Given the description of an element on the screen output the (x, y) to click on. 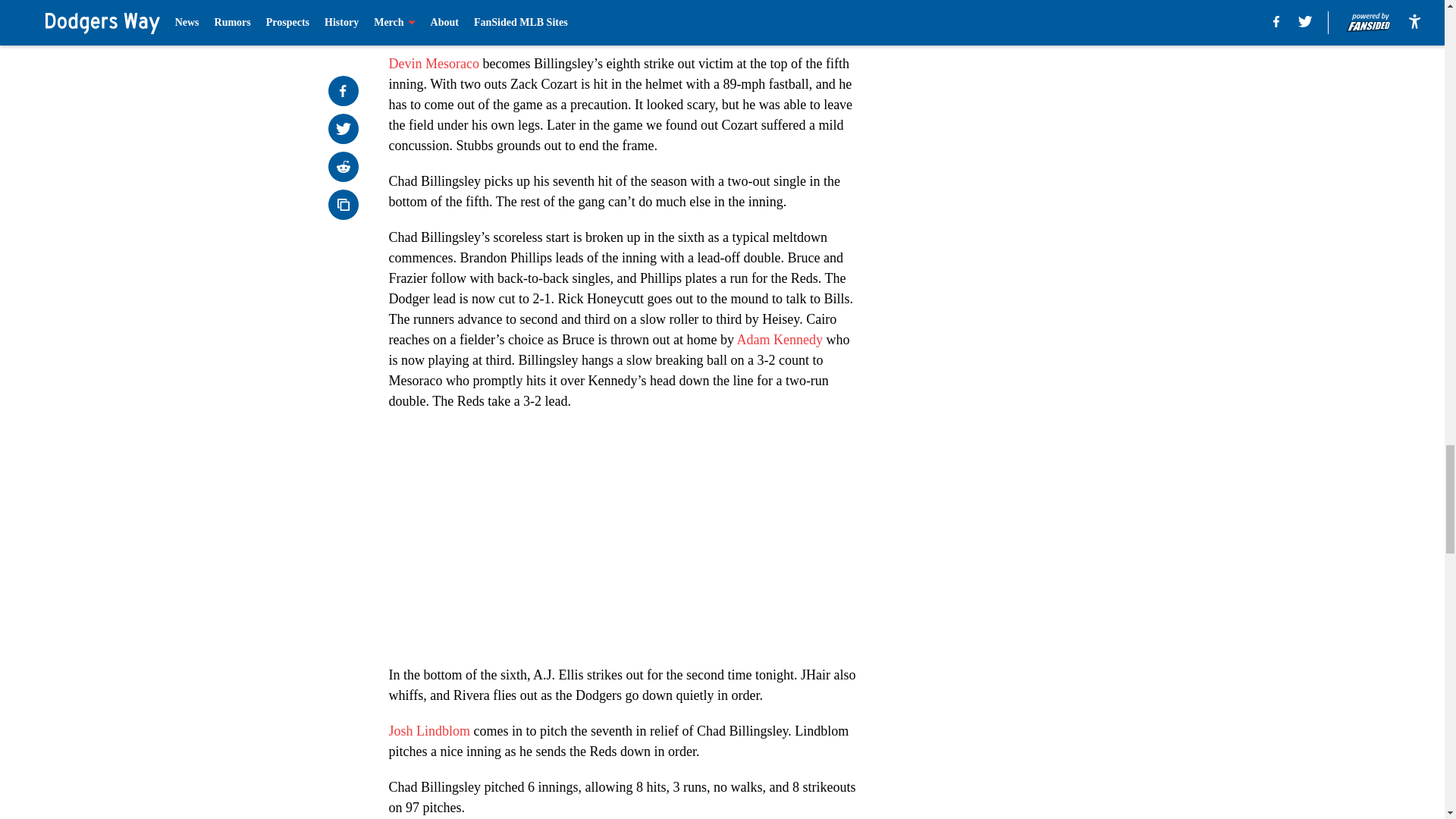
Devin Mesoraco (433, 63)
